Given the description of an element on the screen output the (x, y) to click on. 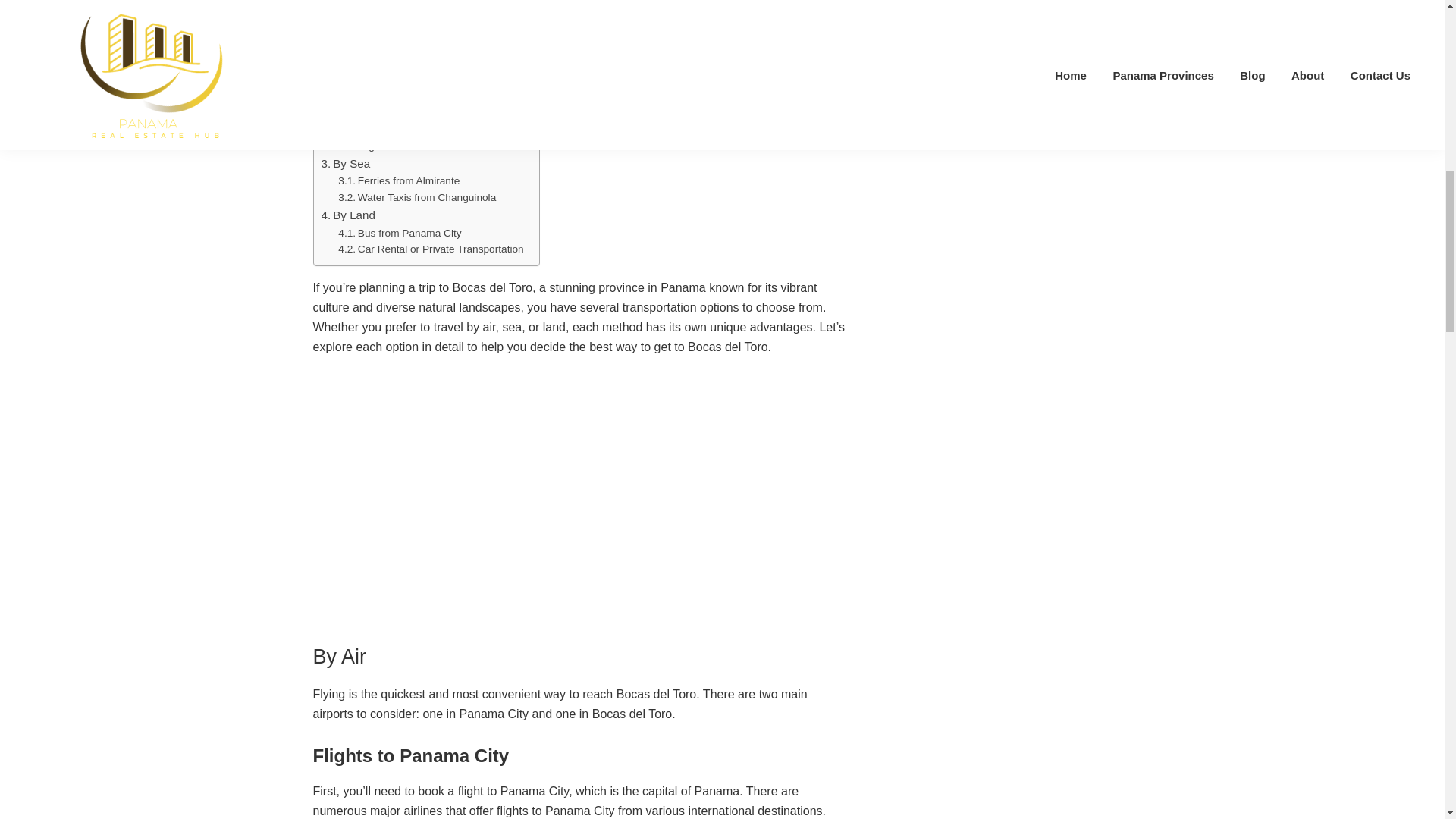
By Land (348, 215)
Bus from Panama City (399, 232)
Car Rental or Private Transportation (429, 248)
Flights to Bocas del Toro (403, 146)
By Land (348, 215)
Getting to Bocas del Toro (392, 94)
Water Taxis from Changuinola (416, 197)
Flights to Panama City (399, 129)
Bus from Panama City (399, 232)
Flights to Panama City (399, 129)
Water Taxis from Changuinola (416, 197)
By Sea (346, 163)
By Air (341, 112)
Car Rental or Private Transportation (429, 248)
Ferries from Almirante (398, 180)
